Given the description of an element on the screen output the (x, y) to click on. 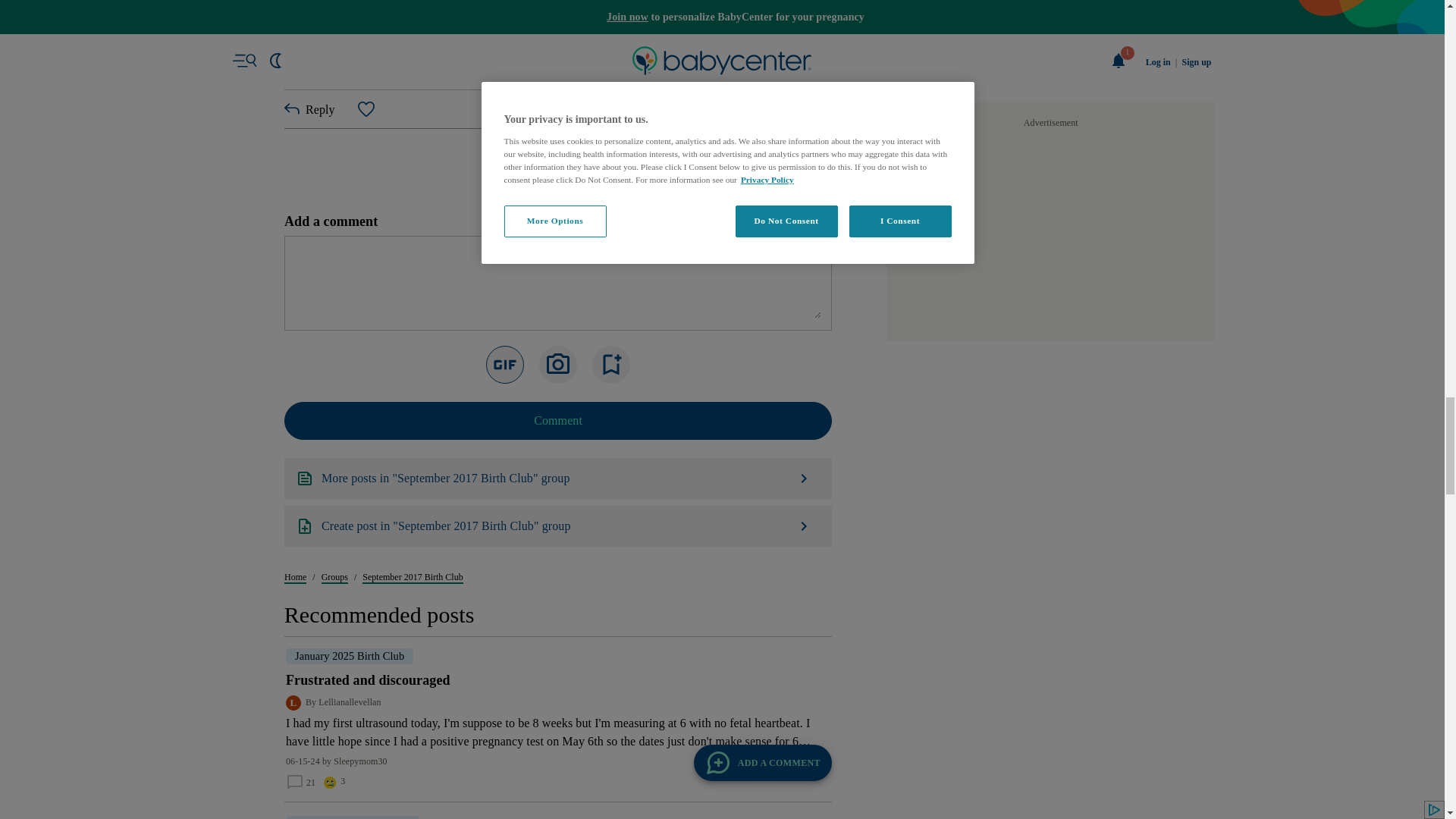
Go to page number (541, 680)
1 (541, 680)
